Given the description of an element on the screen output the (x, y) to click on. 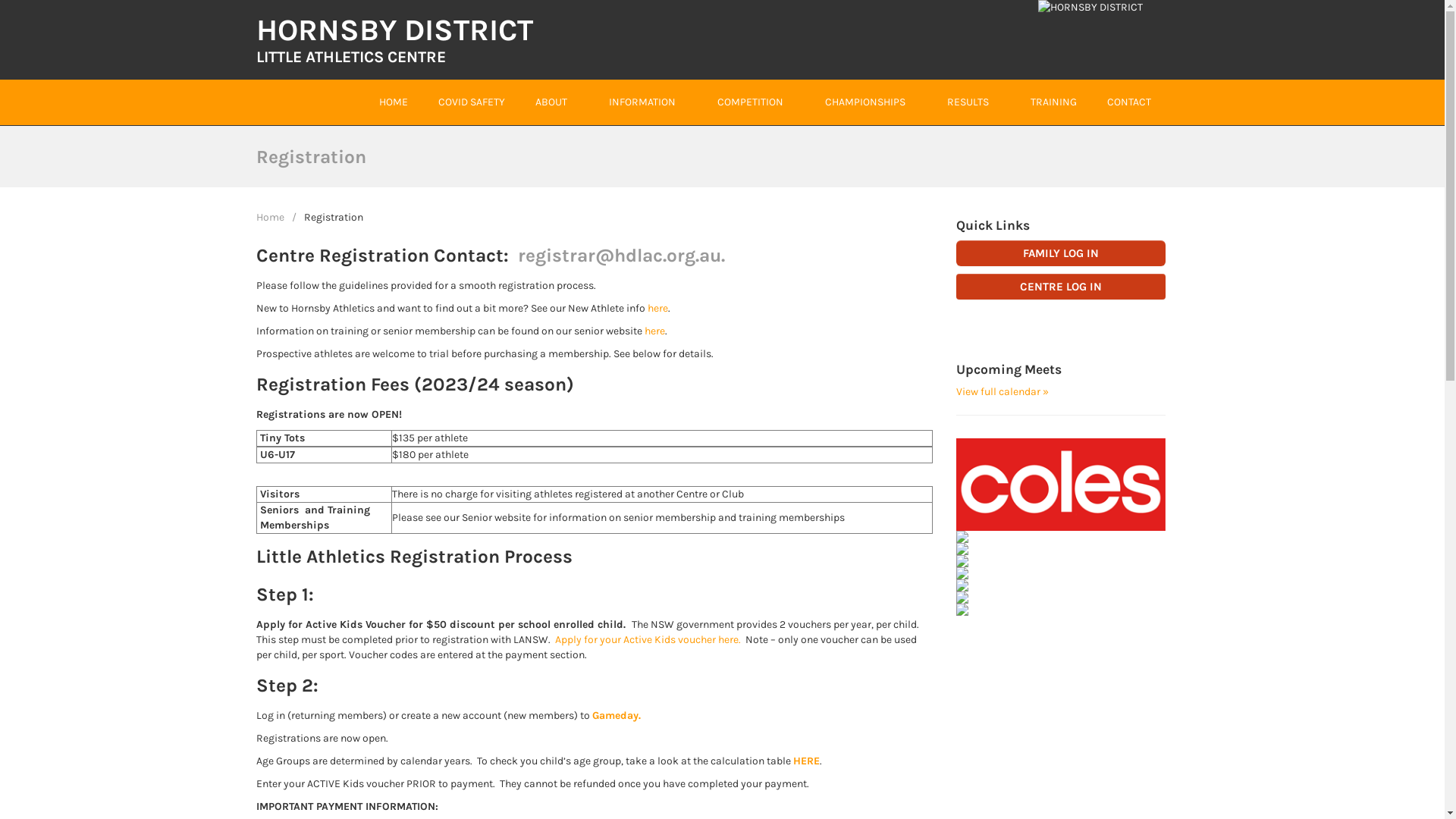
ABOUT Element type: text (551, 101)
LITTLE ATHLETICS CENTRE Element type: text (350, 56)
here Element type: text (654, 330)
here Element type: text (657, 307)
CHAMPIONSHIPS Element type: text (865, 101)
FAMILY LOG IN Element type: text (1061, 253)
CENTRE LOG IN Element type: text (1061, 286)
registrar@hdlac.org.au. Element type: text (620, 255)
COVID SAFETY Element type: text (471, 101)
Apply for your Active Kids voucher here Element type: text (646, 639)
CONTACT Element type: text (1129, 101)
INFORMATION Element type: text (641, 101)
HERE Element type: text (806, 760)
Home Element type: text (270, 216)
TRAINING Element type: text (1052, 101)
HOME Element type: text (393, 101)
HORNSBY DISTRICT Element type: text (394, 29)
Gameday Element type: text (614, 715)
COMPETITION Element type: text (750, 101)
Hornsby and District Little Athletics Element type: hover (1090, 6)
RESULTS Element type: text (967, 101)
